Given the description of an element on the screen output the (x, y) to click on. 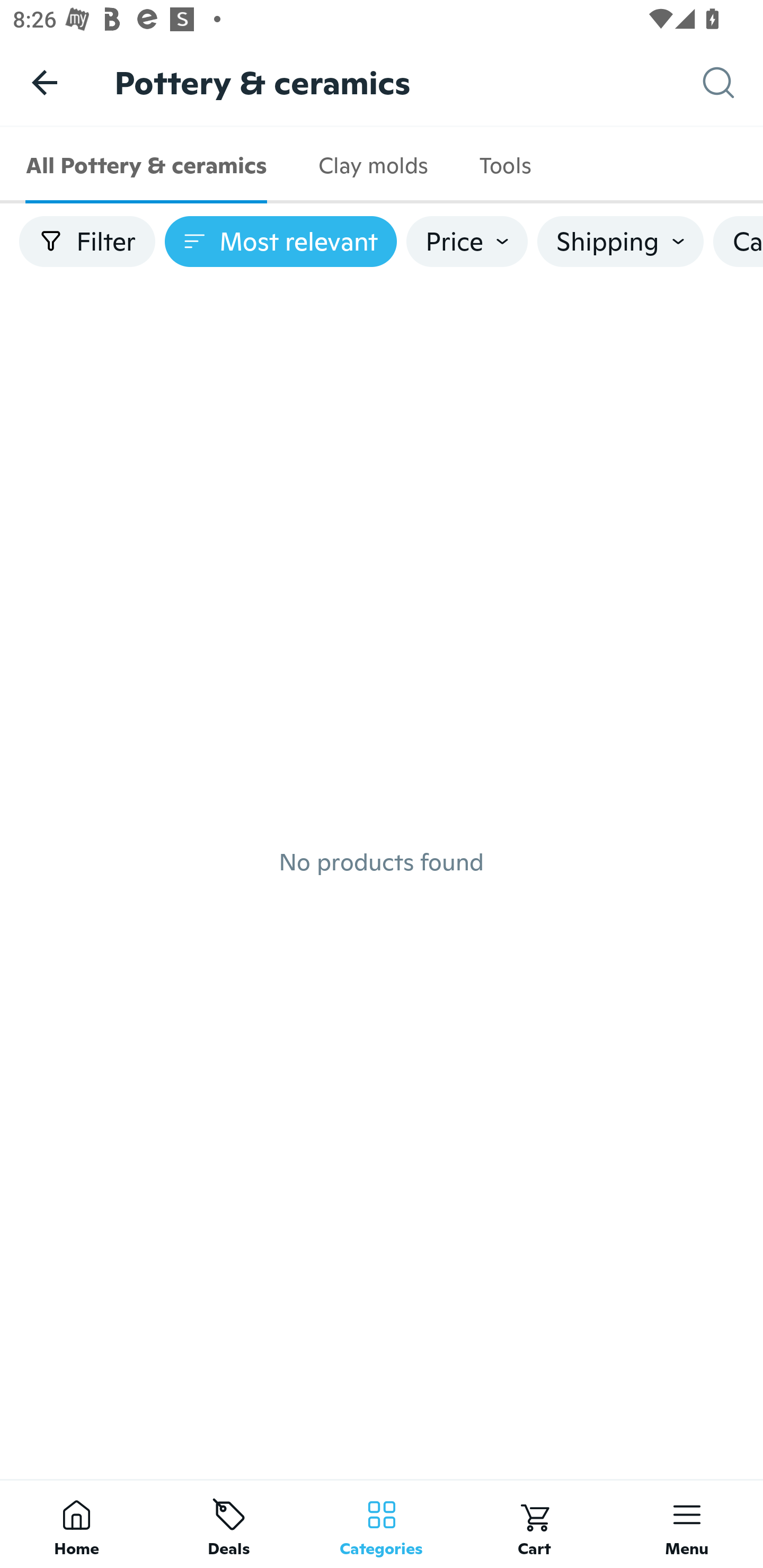
Navigate up (44, 82)
Search (732, 82)
All Pottery & ceramics (146, 165)
Clay molds (372, 165)
Tools (504, 165)
Filter (86, 241)
Most relevant (280, 241)
Price (466, 241)
Shipping (620, 241)
Home (76, 1523)
Deals (228, 1523)
Categories (381, 1523)
Cart (533, 1523)
Menu (686, 1523)
